Given the description of an element on the screen output the (x, y) to click on. 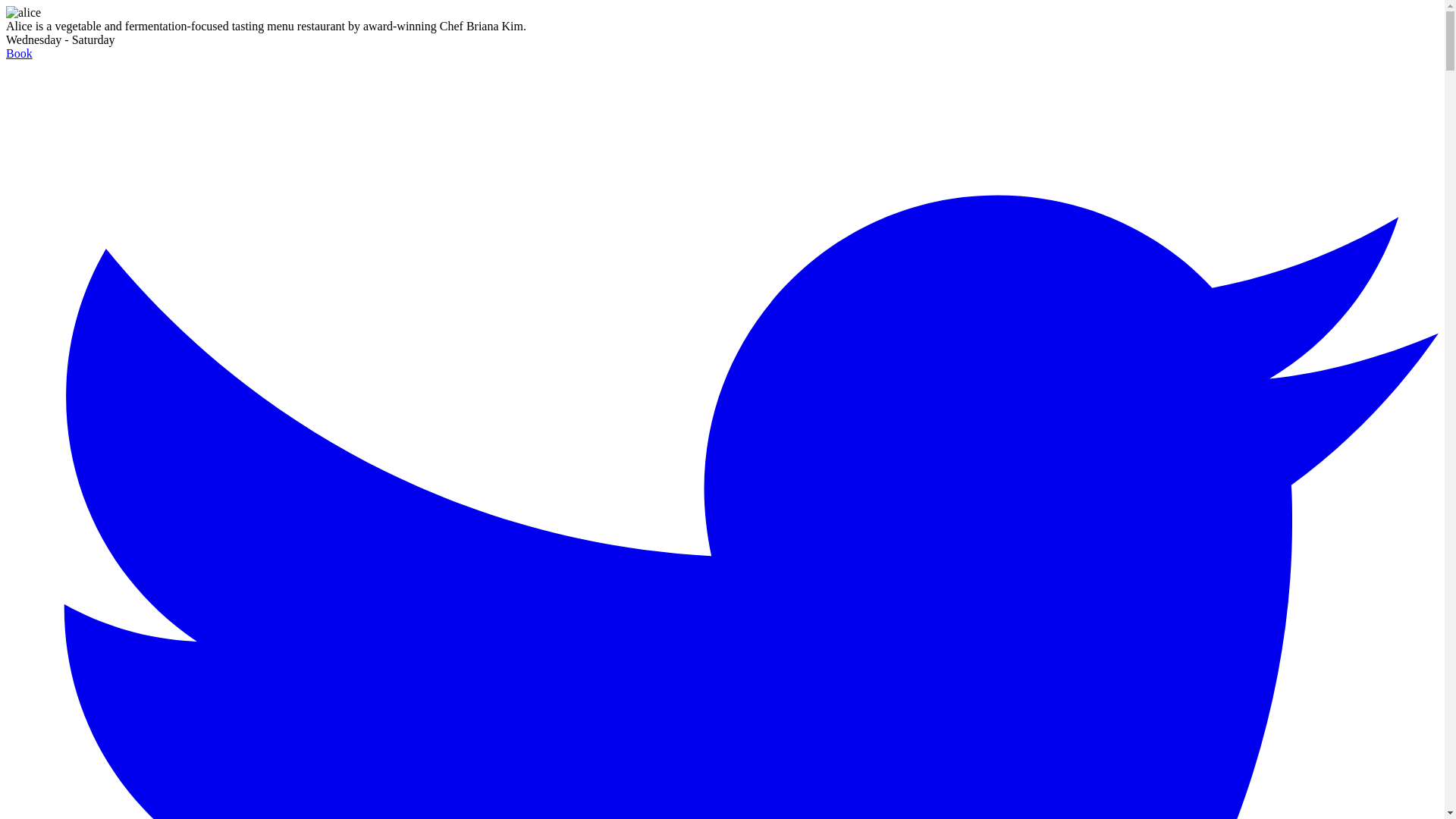
Book Element type: text (19, 53)
